Given the description of an element on the screen output the (x, y) to click on. 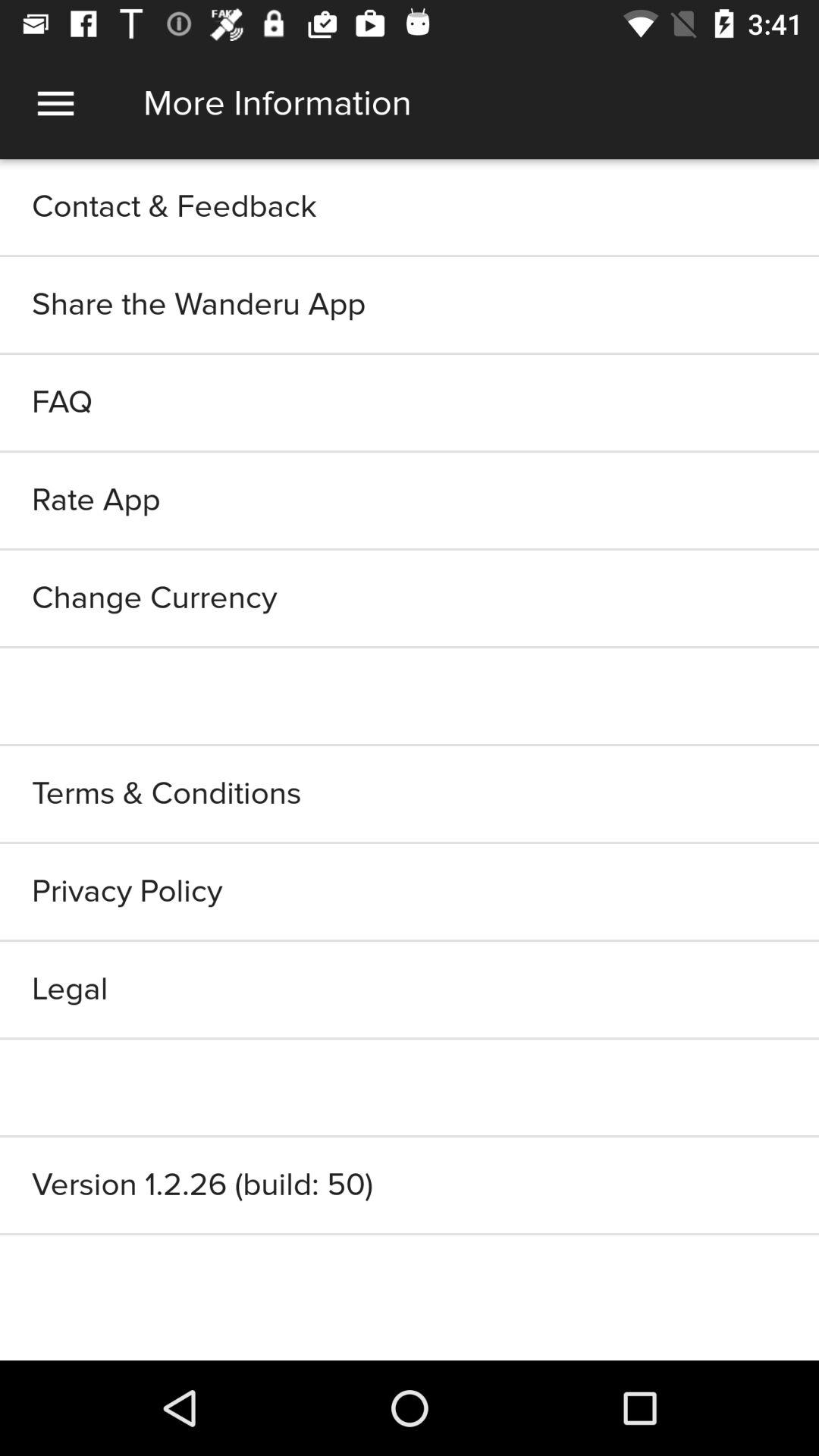
open the icon above share the wanderu icon (409, 206)
